Given the description of an element on the screen output the (x, y) to click on. 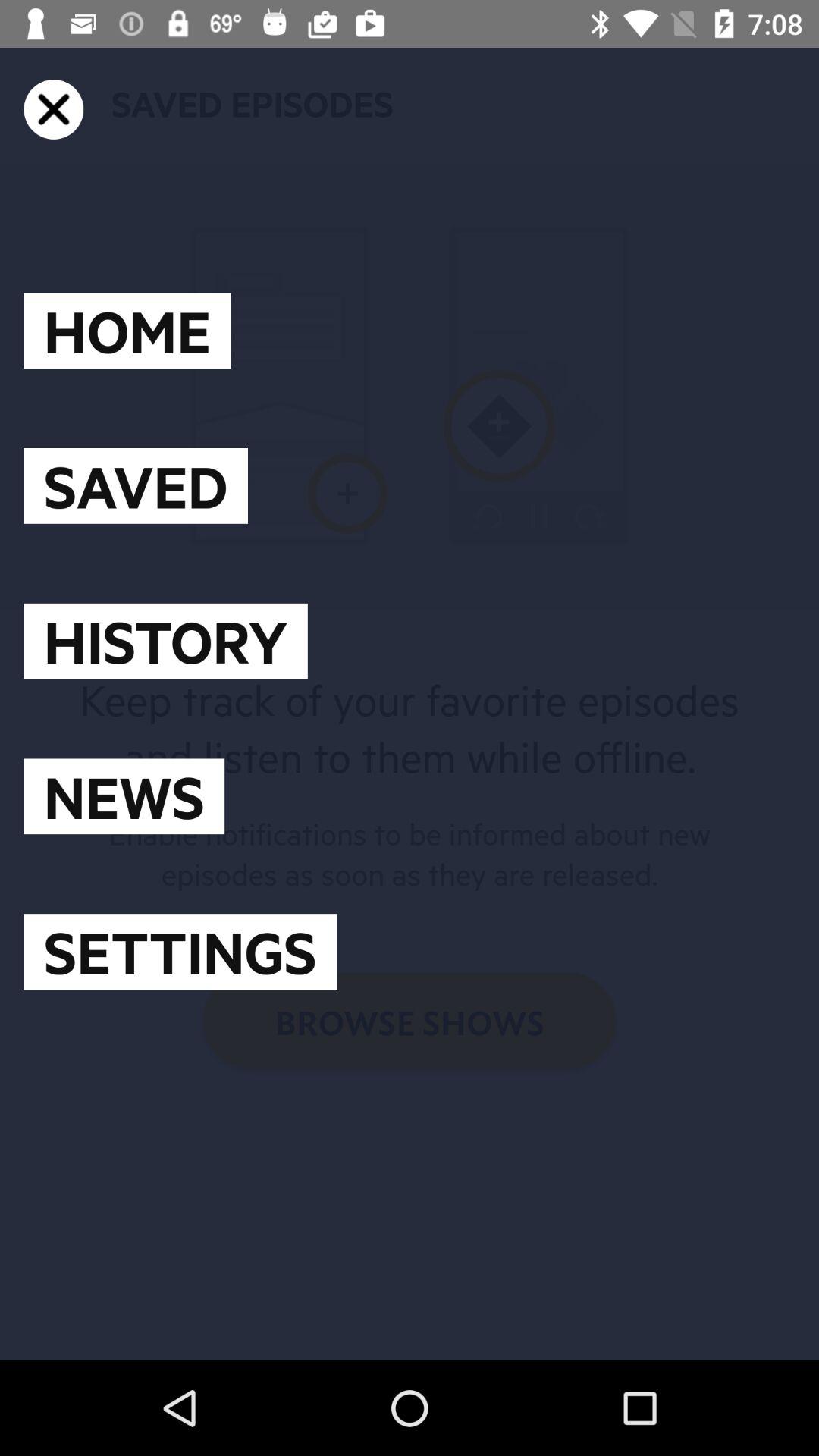
scroll to the saved icon (135, 485)
